Given the description of an element on the screen output the (x, y) to click on. 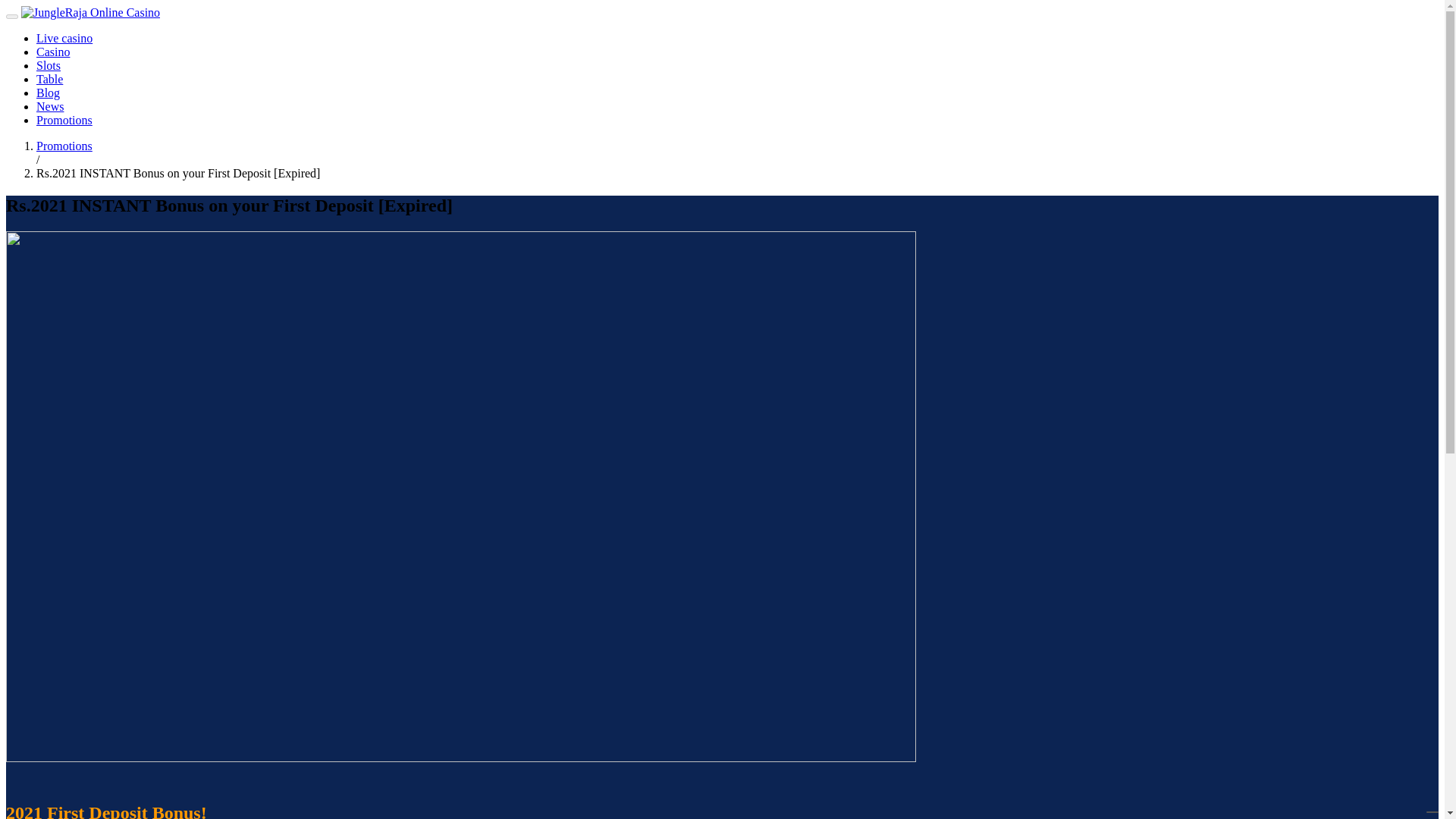
Casino (52, 51)
Live casino (64, 38)
Slots (48, 65)
Promotions (64, 119)
Table (49, 78)
Blog (47, 92)
News (50, 106)
Promotions (64, 145)
